Given the description of an element on the screen output the (x, y) to click on. 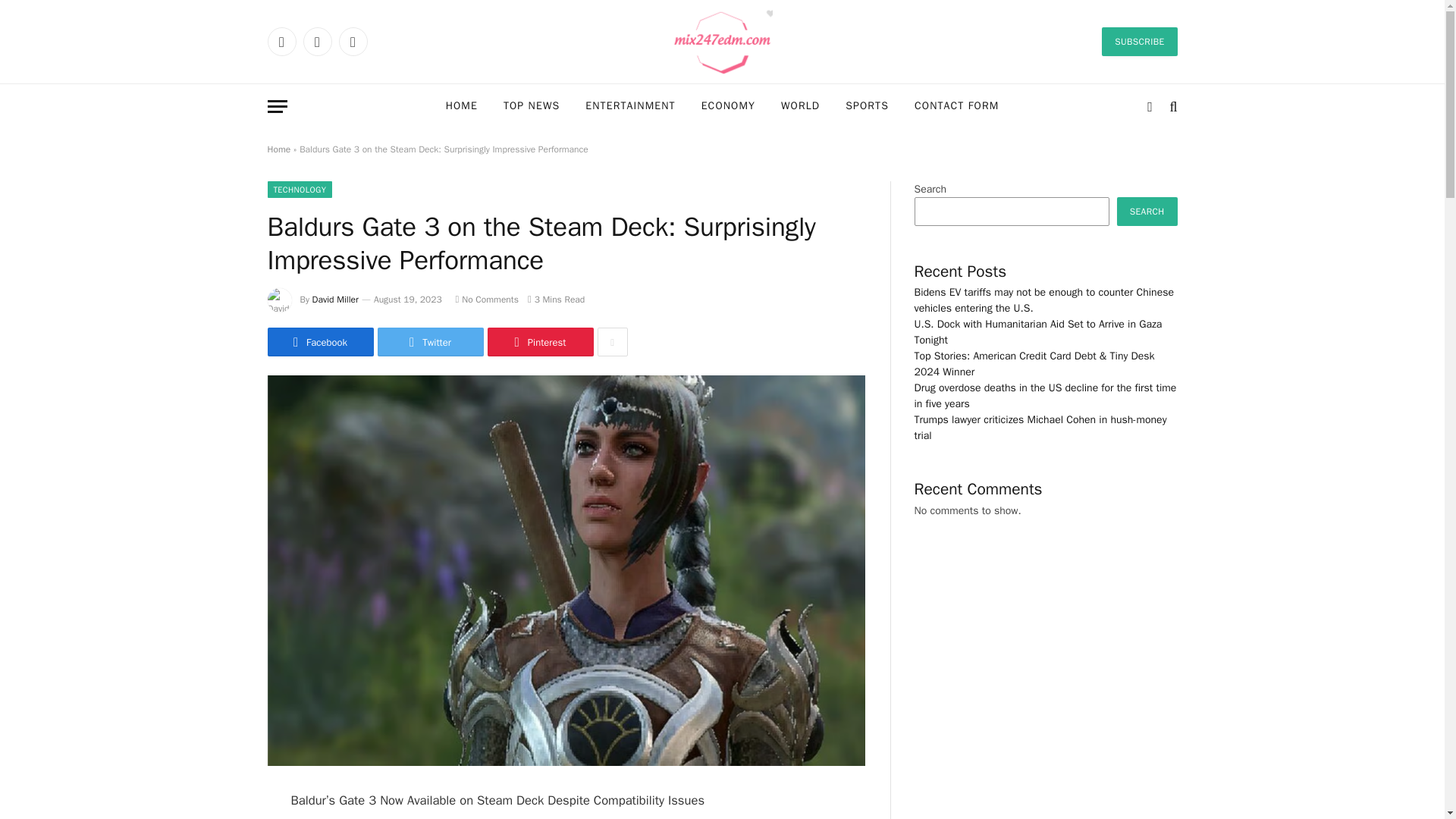
Facebook (319, 341)
Instagram (351, 41)
Twitter (430, 341)
Facebook (280, 41)
Mix 247 EDM (722, 41)
ECONOMY (728, 106)
HOME (461, 106)
Share on Pinterest (539, 341)
WORLD (800, 106)
Pinterest (539, 341)
